Given the description of an element on the screen output the (x, y) to click on. 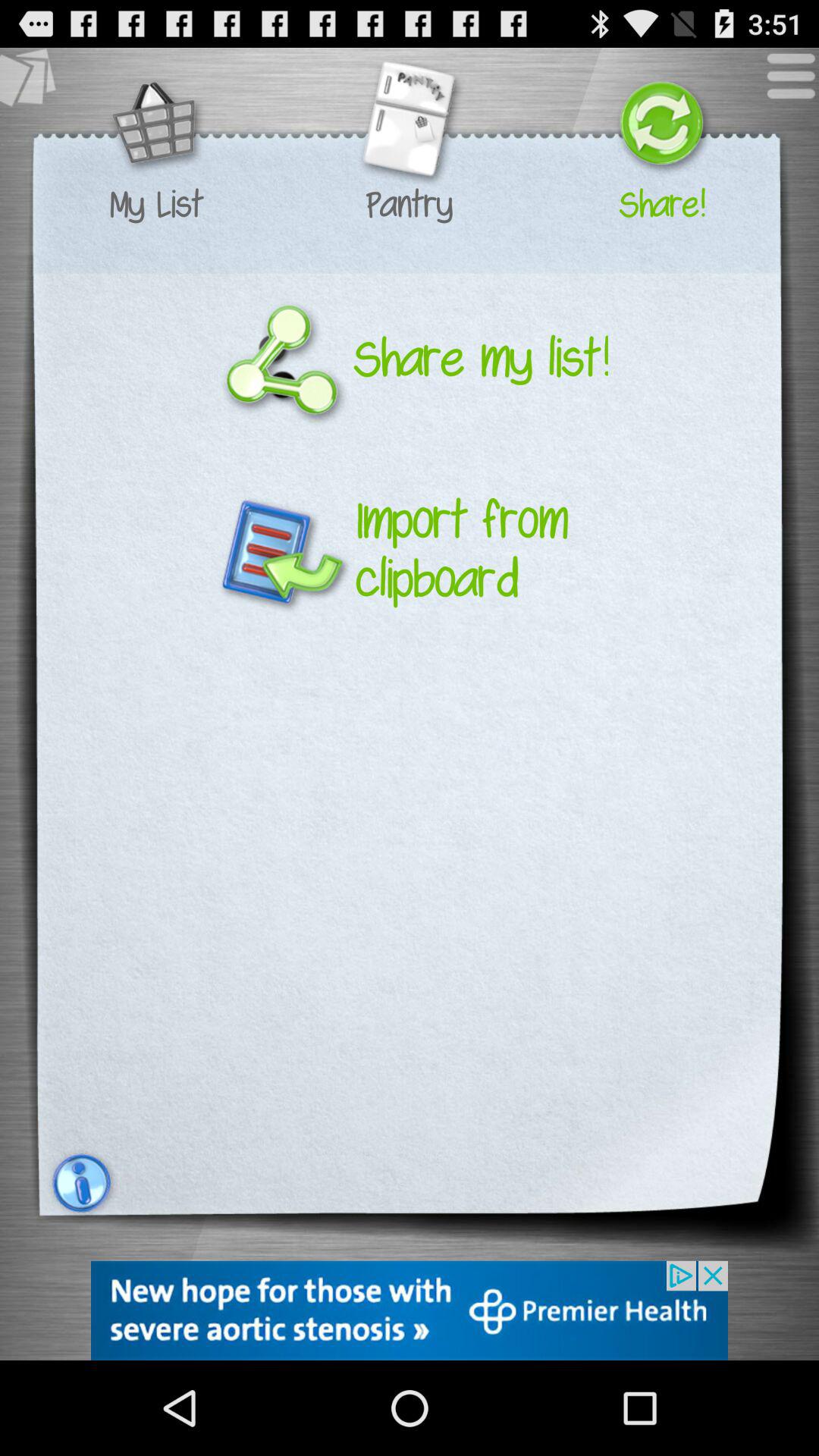
open selected item (408, 125)
